Given the description of an element on the screen output the (x, y) to click on. 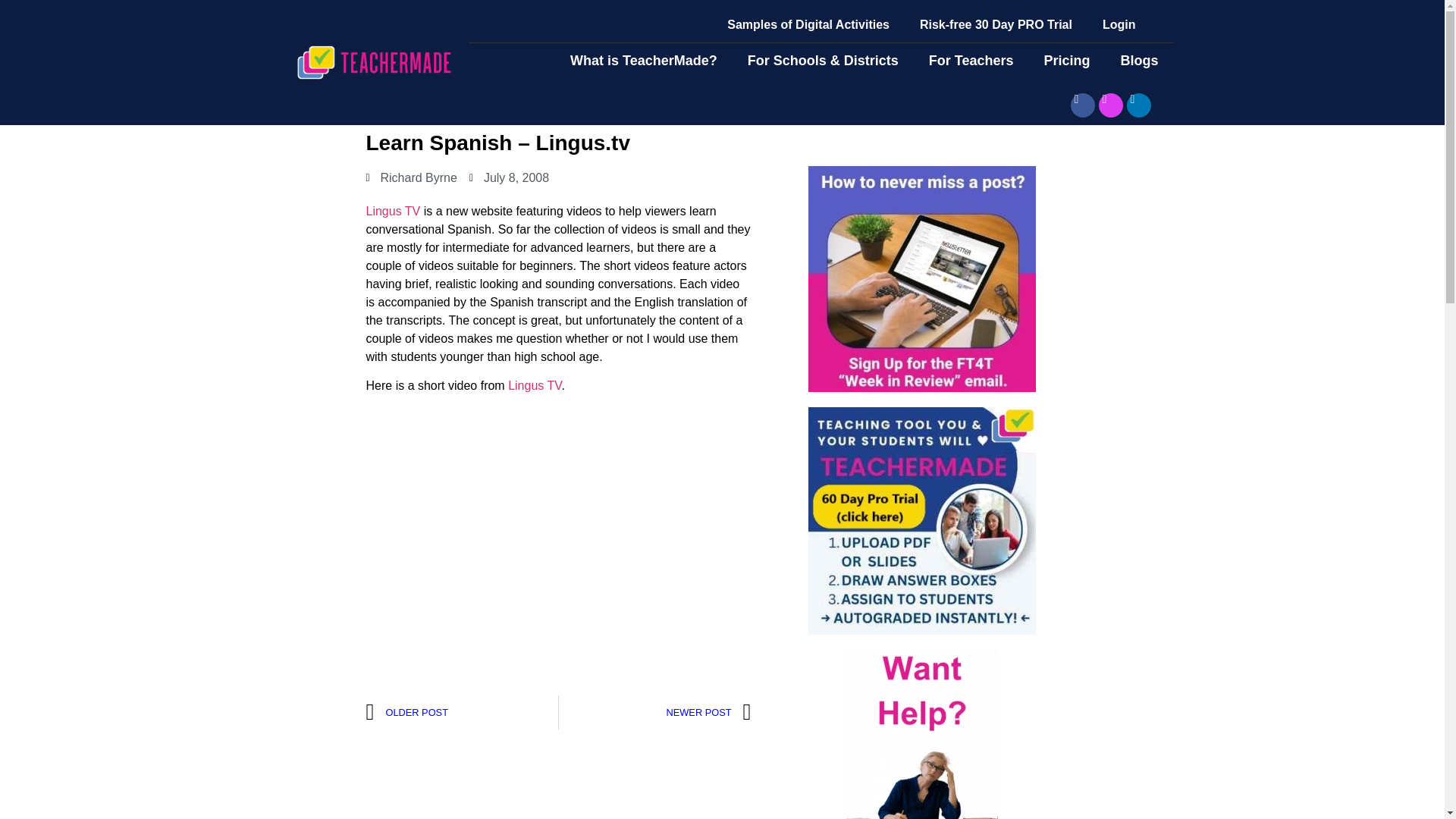
Pricing (1066, 60)
Samples of Digital Activities (807, 24)
Risk-free 30 Day PRO Trial (995, 24)
Blogs (1139, 60)
Login (1119, 24)
What is TeacherMade? (643, 60)
For Teachers (971, 60)
